Given the description of an element on the screen output the (x, y) to click on. 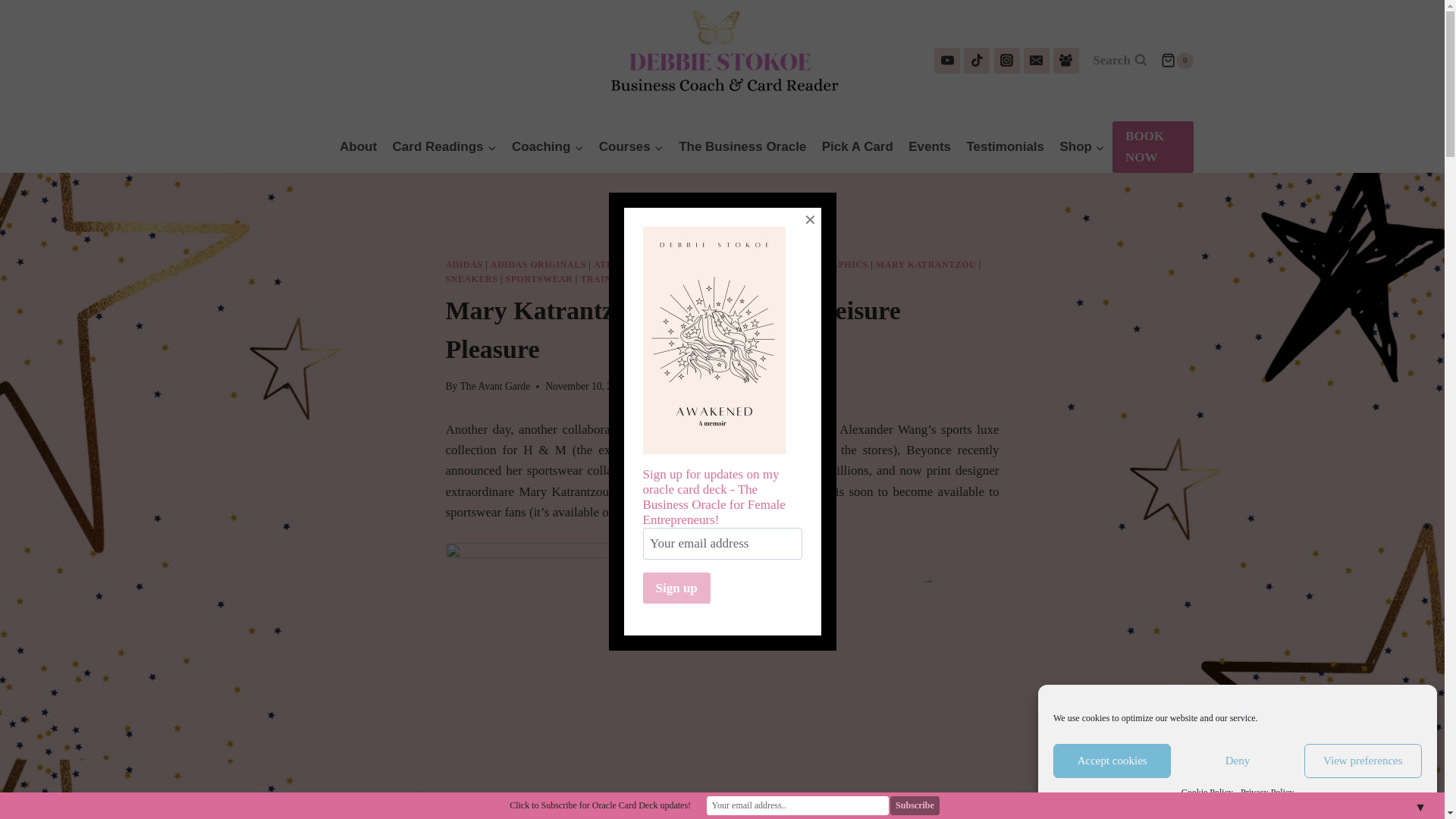
Courses (631, 146)
Privacy Policy (1267, 792)
View preferences (1363, 760)
Cookie Policy (1206, 792)
Sign up (676, 587)
Accept cookies (1111, 760)
Deny (1236, 760)
Coaching (547, 146)
0 (1176, 60)
Search (1120, 60)
Card Readings (443, 146)
About (357, 146)
Subscribe (914, 805)
